Given the description of an element on the screen output the (x, y) to click on. 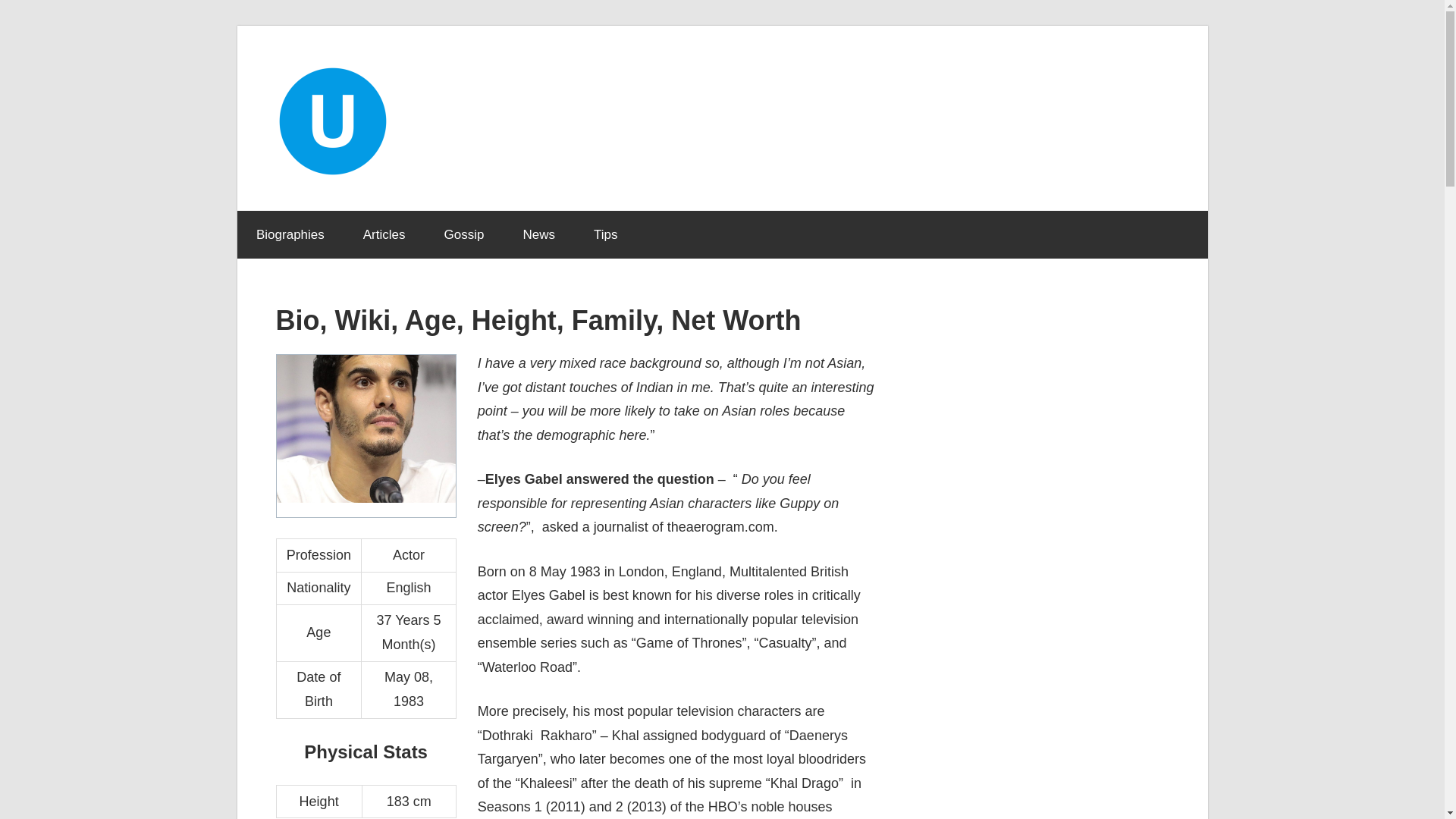
Gossip (464, 234)
News (539, 234)
Tips (605, 234)
Articles (384, 234)
Biographies (289, 234)
